Given the description of an element on the screen output the (x, y) to click on. 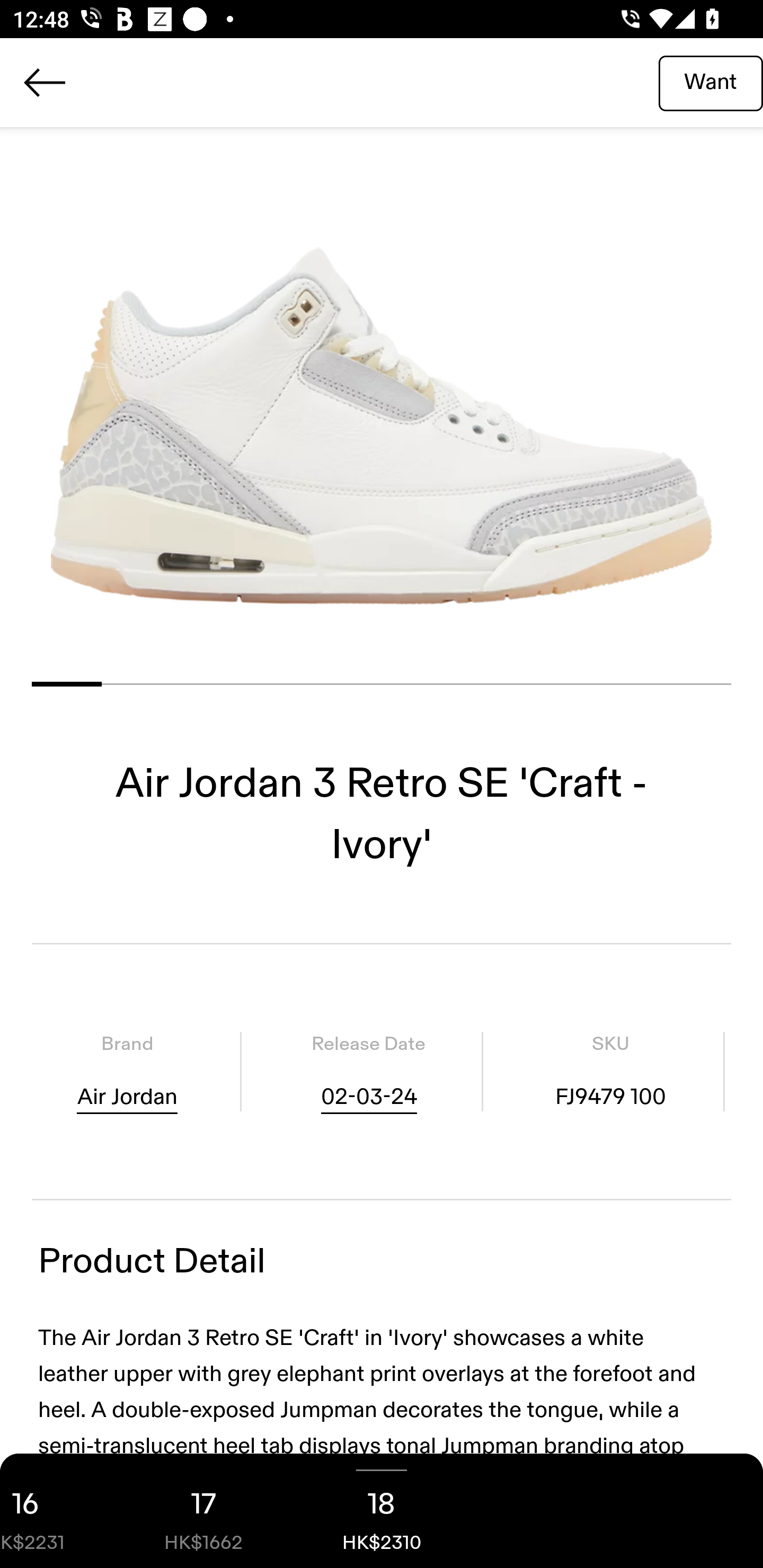
Want (710, 82)
Brand Air Jordan (126, 1070)
Release Date 02-03-24 (368, 1070)
SKU FJ9479 100 (609, 1070)
16 HK$2231 (57, 1510)
17 HK$1662 (203, 1510)
18 HK$2310 (381, 1510)
